Given the description of an element on the screen output the (x, y) to click on. 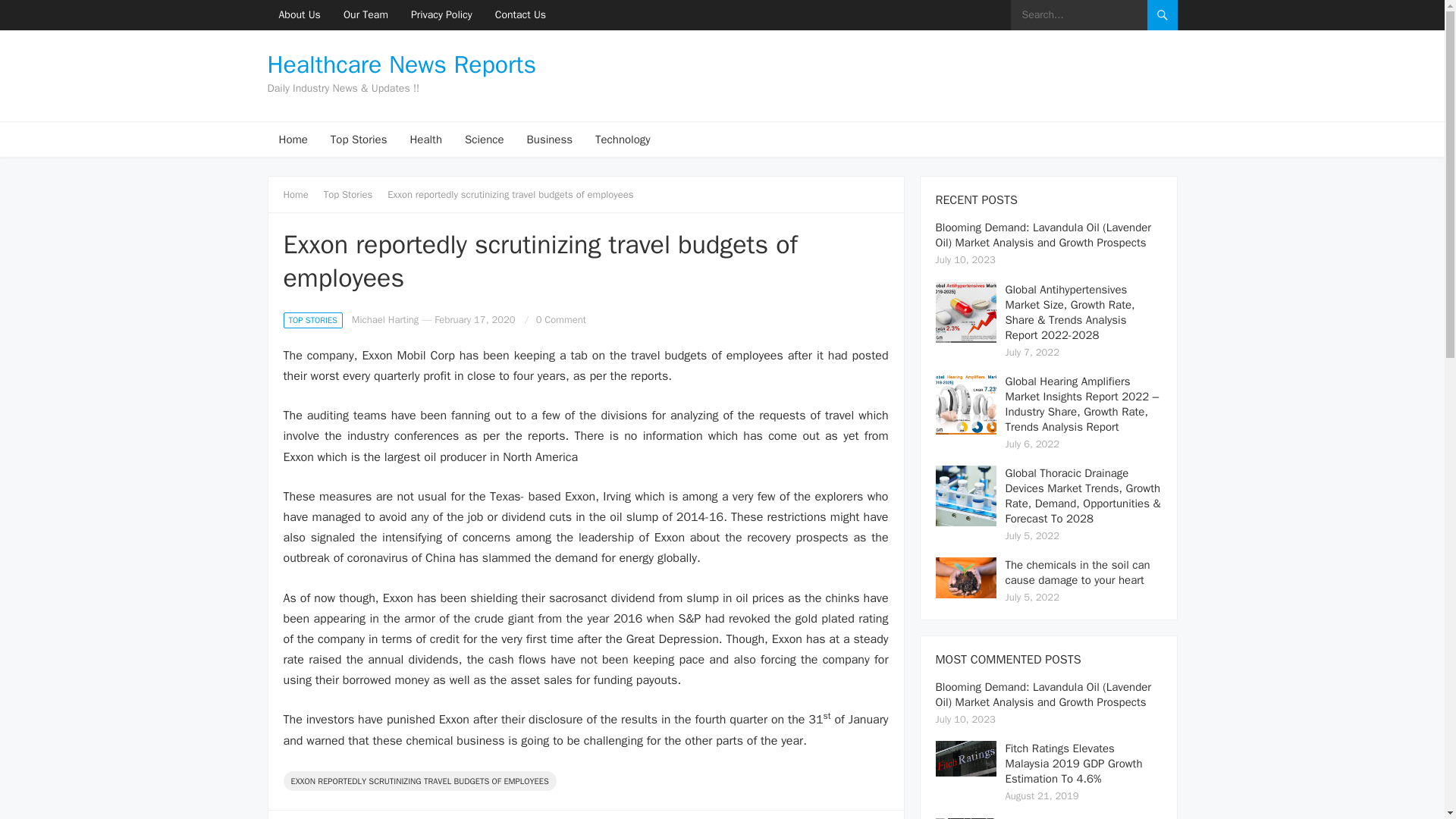
Science (483, 139)
Healthcare News Reports (400, 64)
About Us (298, 15)
0 Comment (560, 318)
Technology (622, 139)
Our Team (364, 15)
Privacy Policy (440, 15)
Top Stories (358, 139)
Home (292, 139)
Home (300, 194)
